Given the description of an element on the screen output the (x, y) to click on. 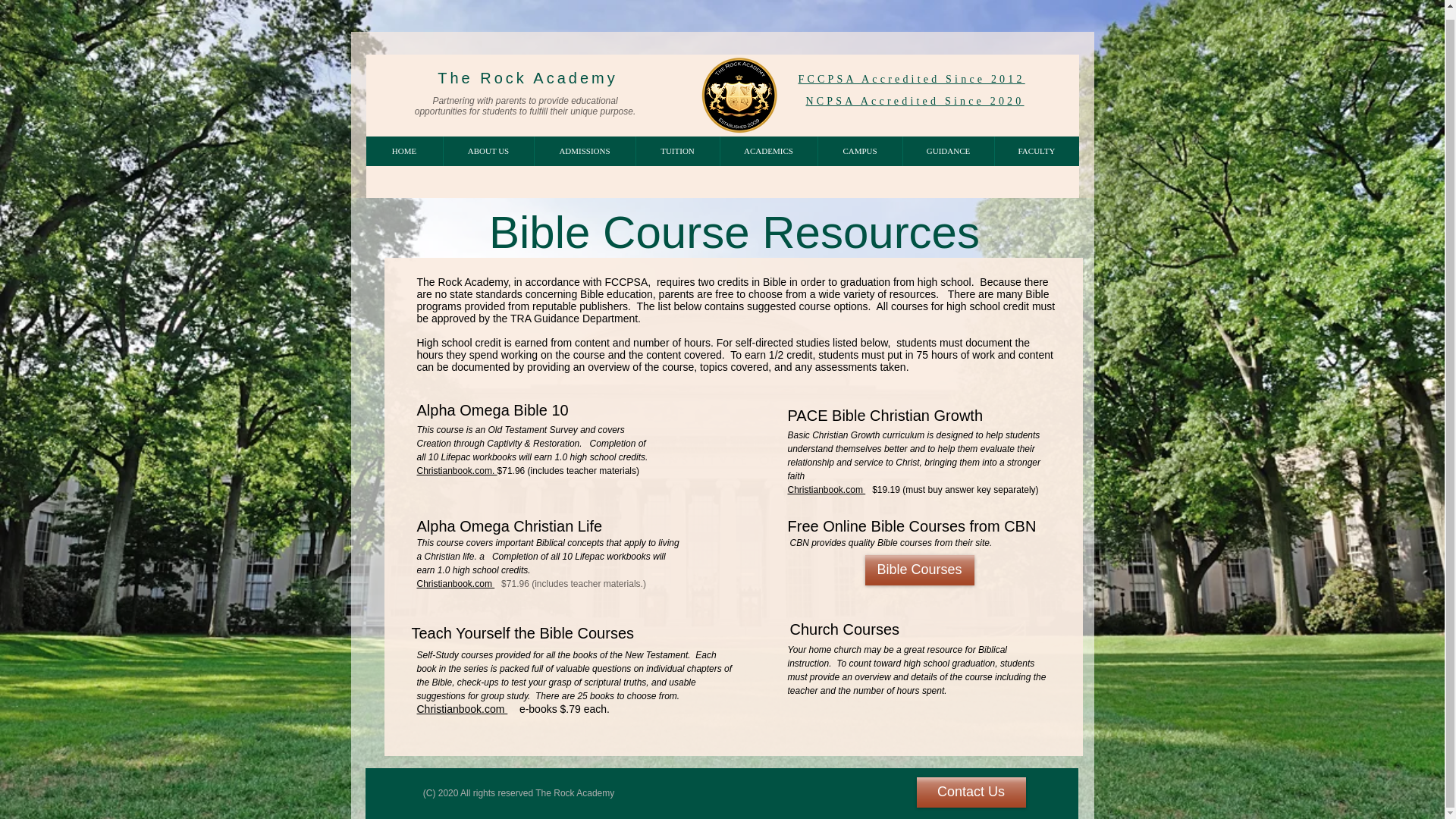
Christianbook.com  (455, 582)
FCCPSA Accredited Since 2012 (911, 79)
Christianbook.com  (462, 708)
NCPSA Accredited Since 2020 (914, 101)
TUITION (676, 151)
Christianbook.com  (825, 488)
FACULTY (1035, 151)
ABOUT US (488, 151)
CAMPUS (859, 151)
HOME (403, 151)
Bible Courses (919, 570)
ADMISSIONS (584, 151)
ACADEMICS (767, 151)
Contact Us (970, 792)
GUIDANCE (948, 151)
